Given the description of an element on the screen output the (x, y) to click on. 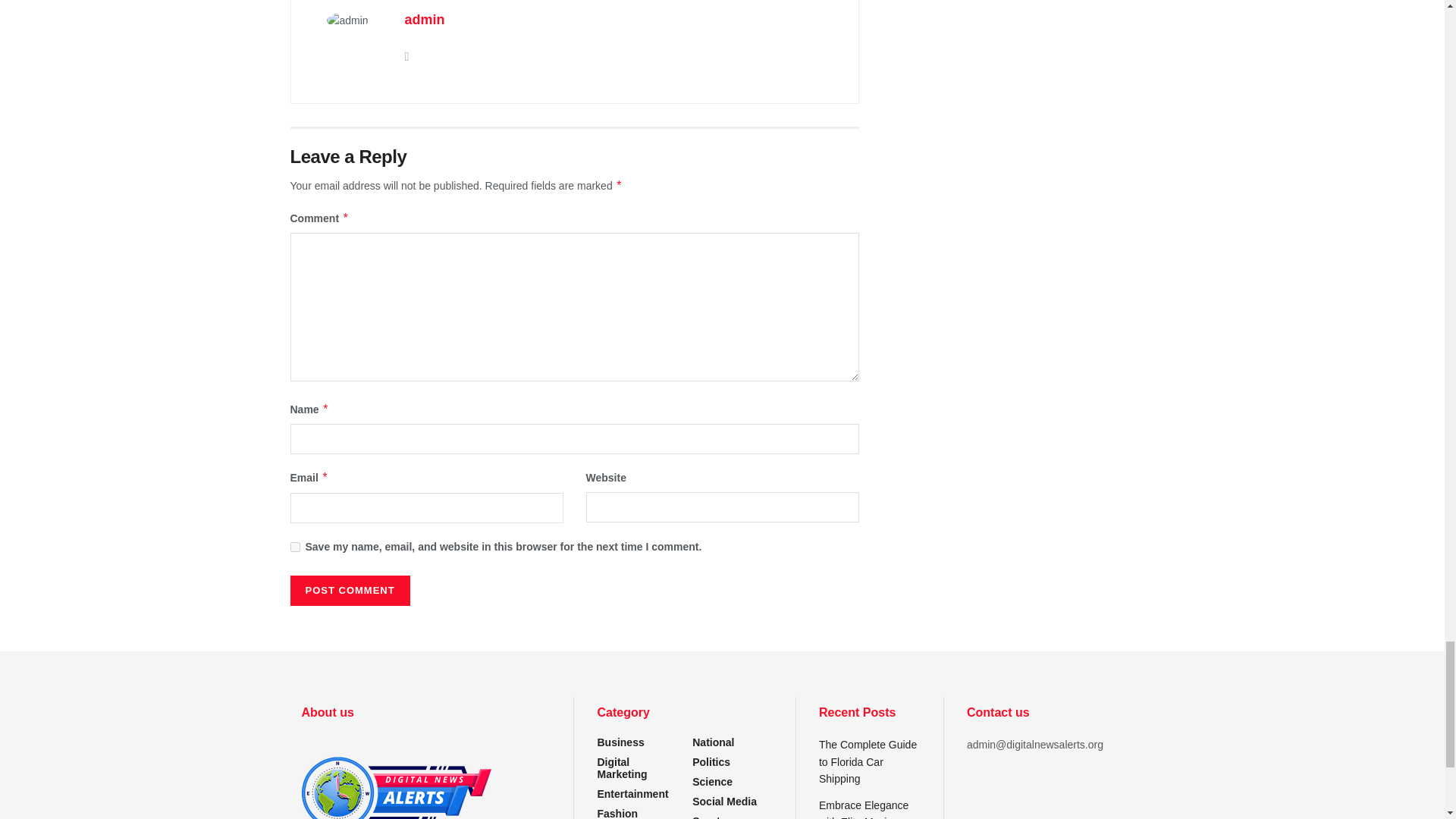
About us (396, 777)
Post Comment (349, 590)
yes (294, 547)
